Given the description of an element on the screen output the (x, y) to click on. 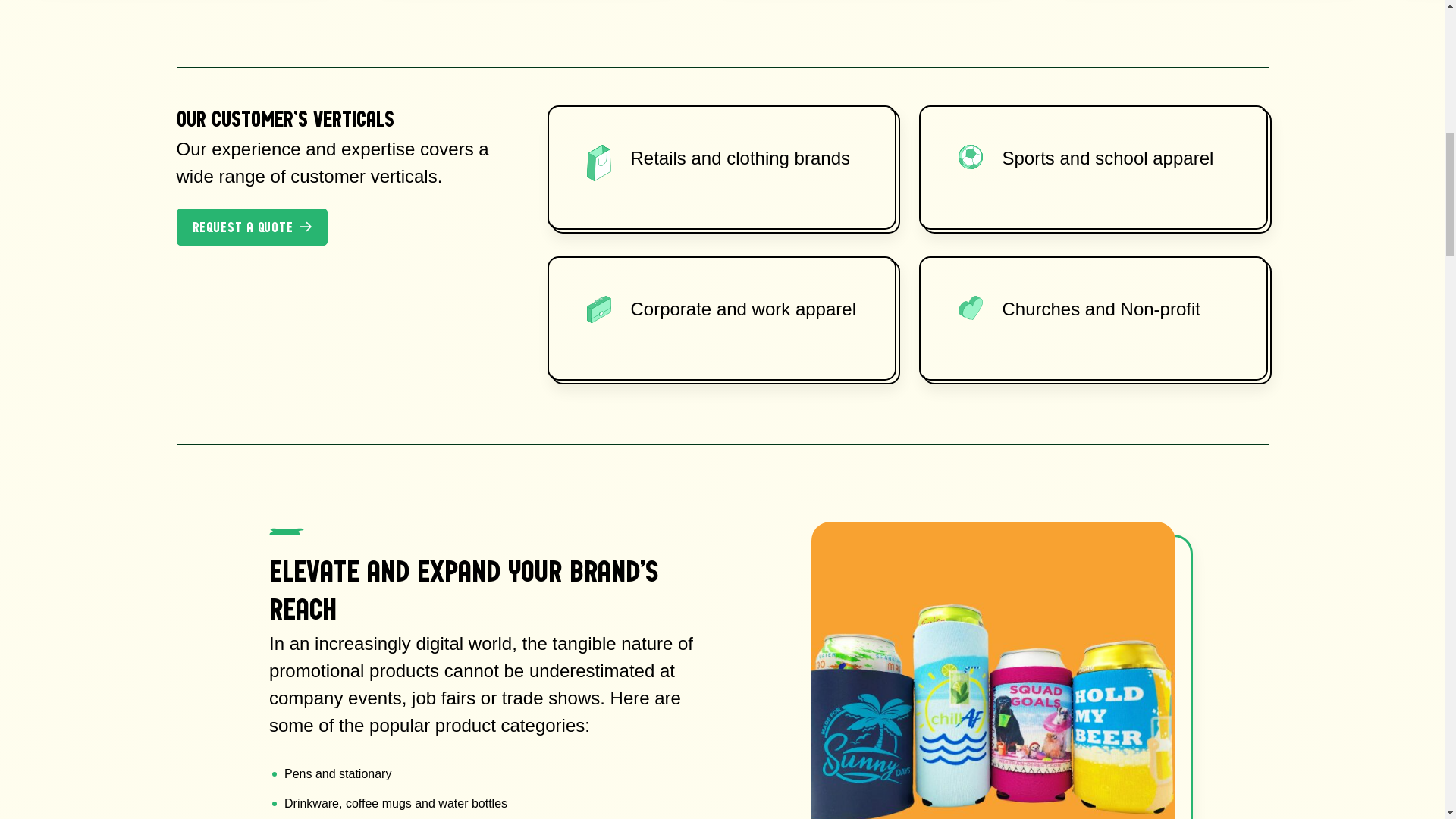
REQUEST A QUOTE (251, 226)
